Given the description of an element on the screen output the (x, y) to click on. 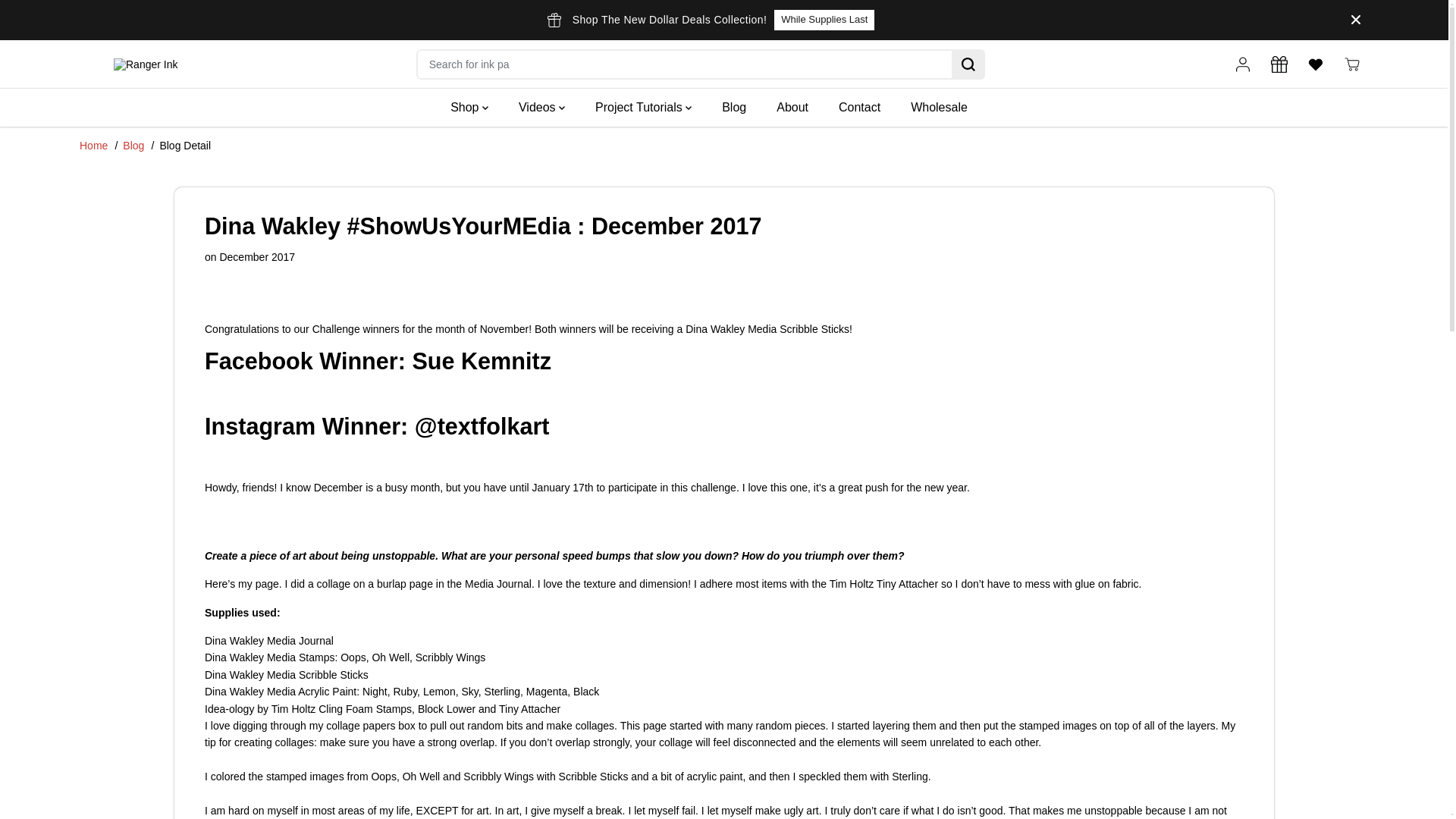
Home (93, 144)
SKIP TO CONTENT (60, 18)
Cart (1351, 64)
Log in (1242, 64)
